Given the description of an element on the screen output the (x, y) to click on. 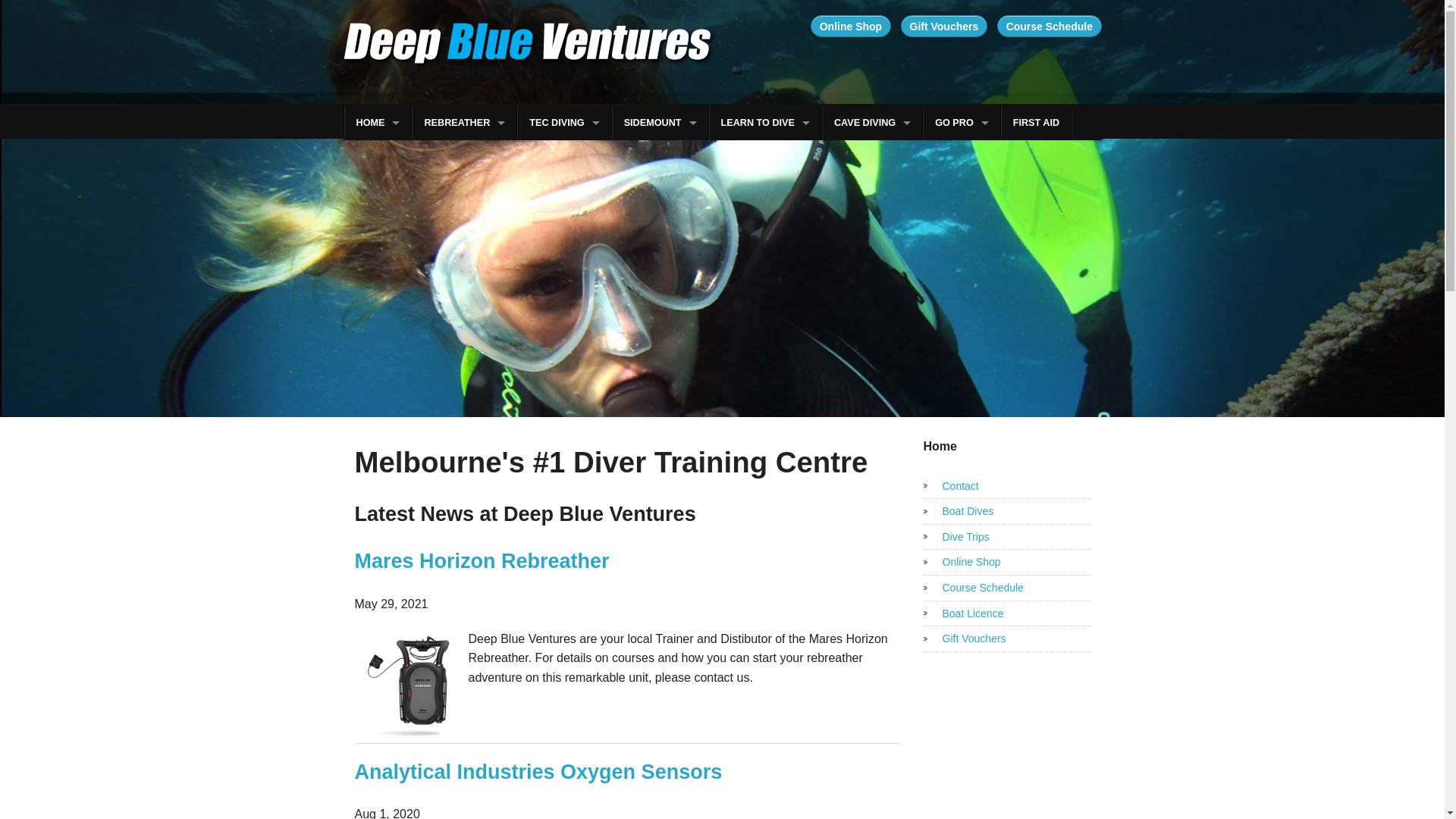
Analytical Industries Oxygen Sensors Element type: text (538, 771)
Course Schedule Element type: text (1006, 587)
GO PRO Element type: text (961, 123)
Online Shop Element type: text (850, 26)
Online Shop Element type: text (1006, 561)
Boat Dives Element type: text (1006, 511)
FIRST AID Element type: text (1035, 123)
Contact Element type: text (1006, 485)
Gift Vouchers Element type: text (943, 26)
CAVE DIVING Element type: text (872, 123)
REBREATHER Element type: text (464, 123)
Course Schedule Element type: text (1049, 26)
Gift Vouchers Element type: text (1006, 638)
HOME Element type: text (377, 123)
Dive Trips Element type: text (1006, 536)
Mares Horizon Rebreather Element type: text (481, 560)
SIDEMOUNT Element type: text (660, 123)
LEARN TO DIVE Element type: text (765, 123)
Boat Licence Element type: text (1006, 613)
TEC DIVING Element type: text (563, 123)
